Given the description of an element on the screen output the (x, y) to click on. 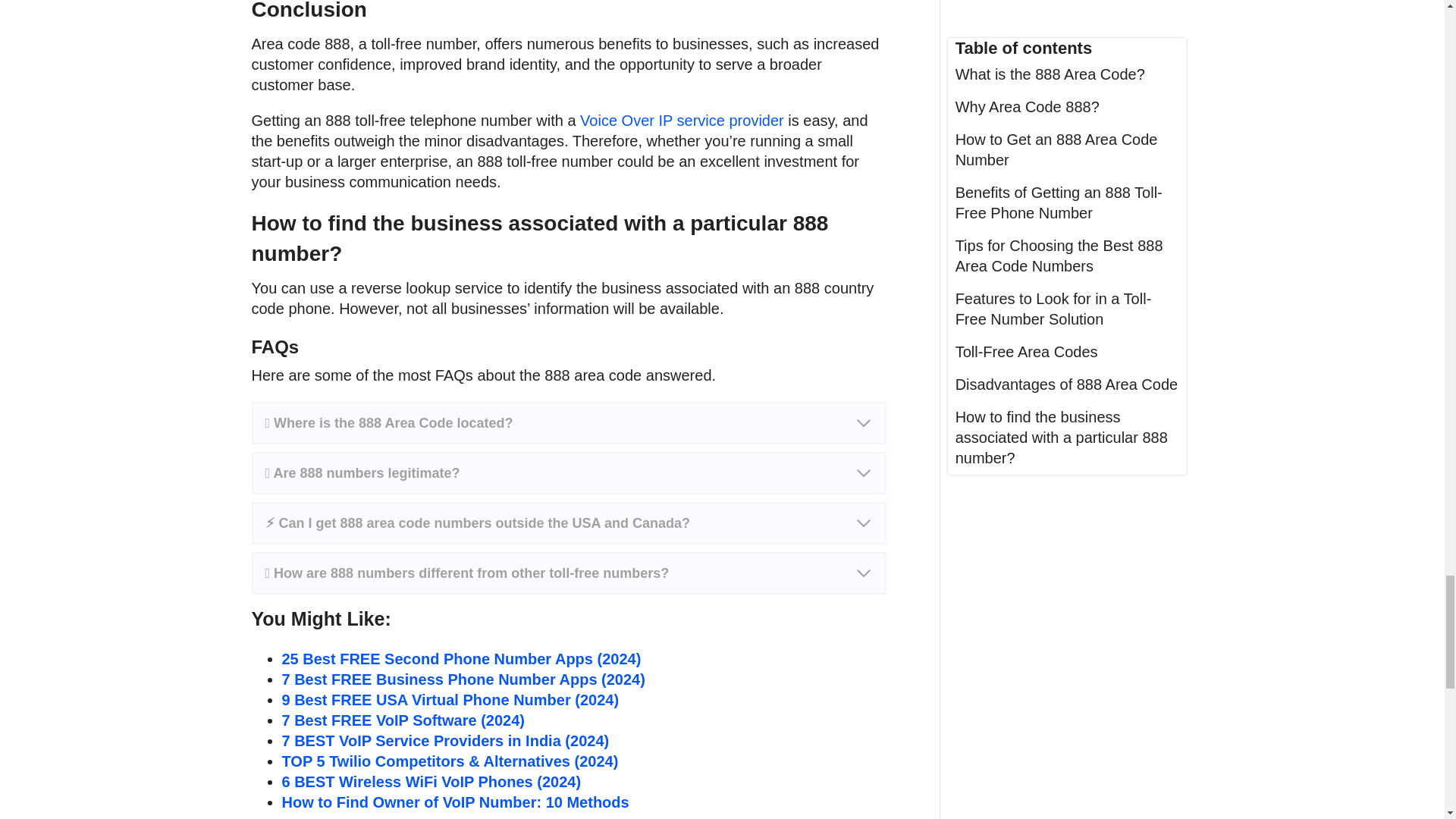
How to Find Owner of VoIP Number: 10 Methods (455, 801)
